Given the description of an element on the screen output the (x, y) to click on. 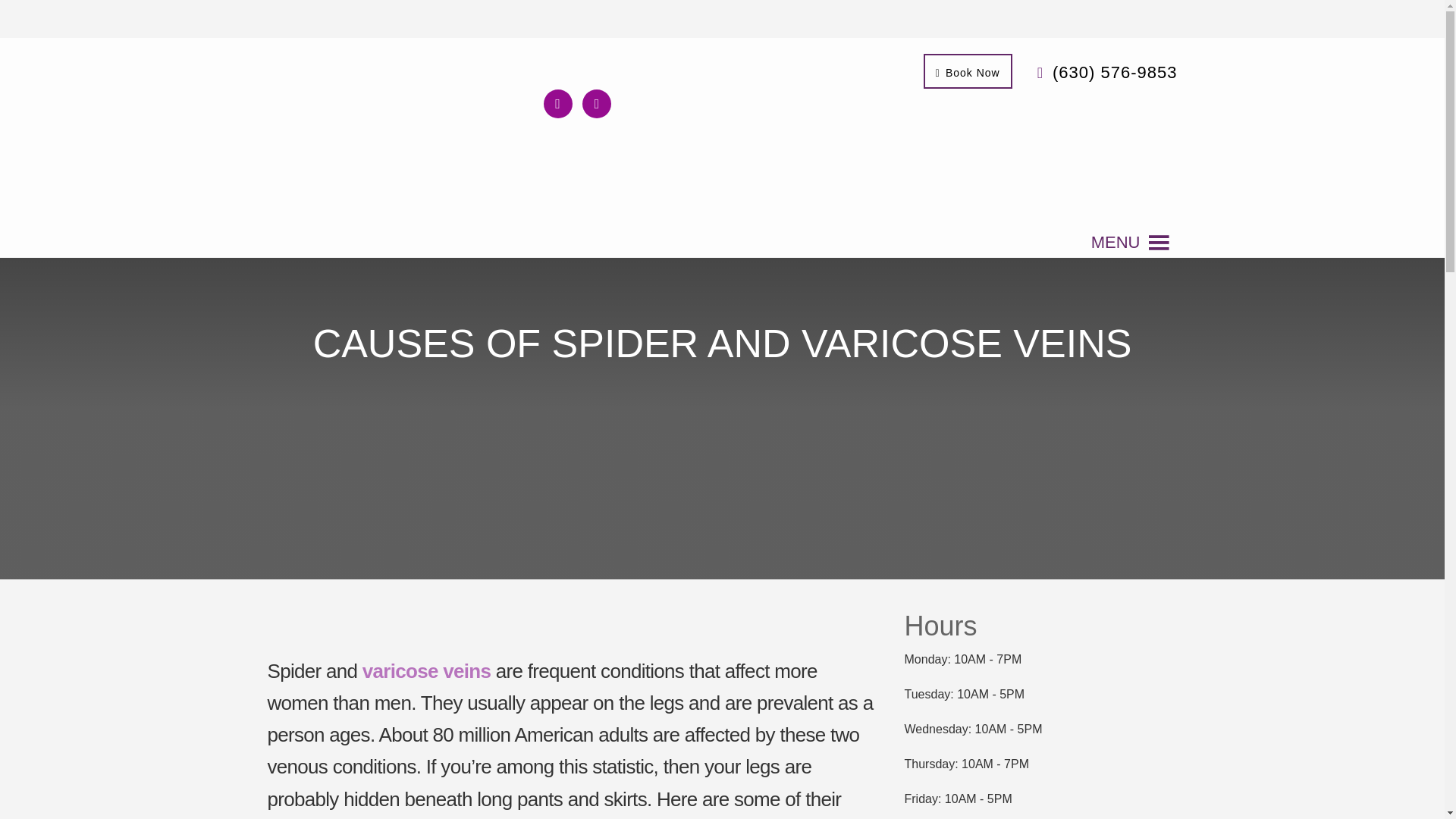
Book Now (967, 71)
Facebook (557, 102)
Instagram (596, 102)
instagram (596, 102)
facebook (557, 102)
